Given the description of an element on the screen output the (x, y) to click on. 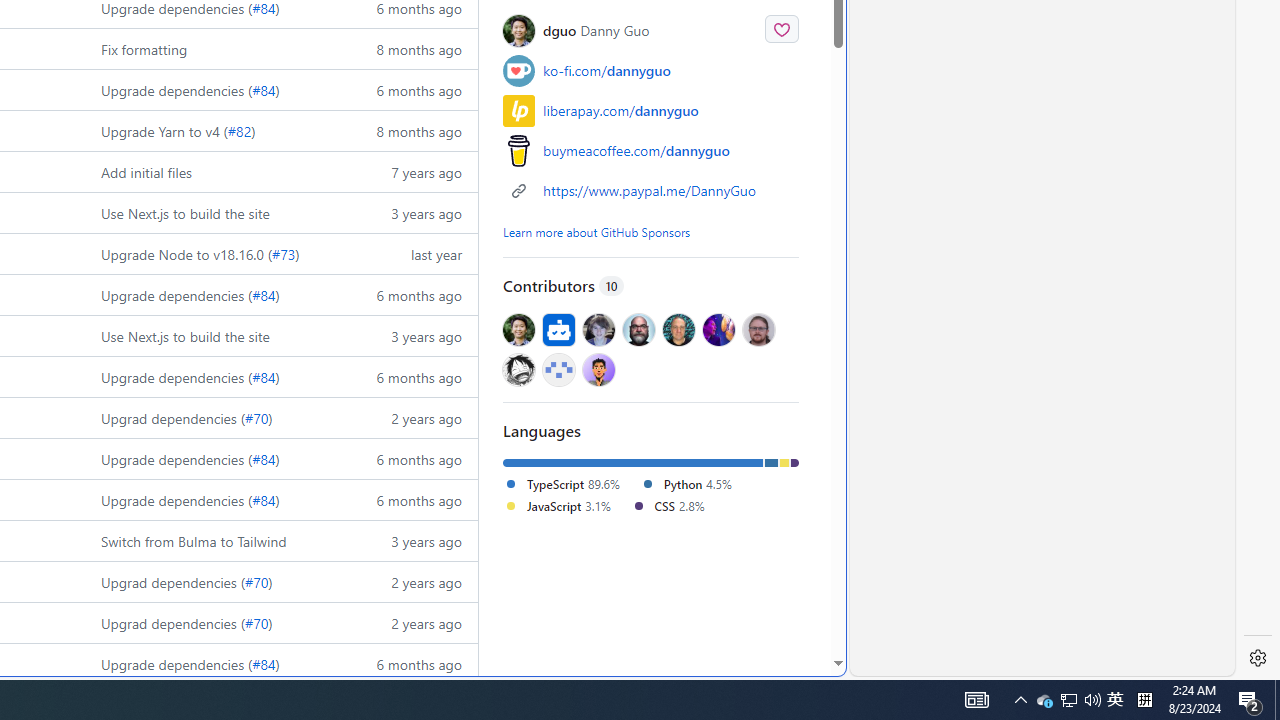
@dguo (519, 329)
Fix formatting (212, 48)
@davidak (598, 329)
#70 (256, 622)
Upgrad dependencies ( (172, 622)
Upgrade Node to v18.16.0 (#73) (212, 253)
#73 (283, 254)
Upgrade Yarn to v4 ( (164, 130)
@paul-hammant (679, 329)
ko-fi.com/dannyguo (650, 70)
@Haroenv (718, 329)
Contributors 10 (650, 285)
Upgrade Node to v18.16.0 ( (186, 254)
buy_me_a_coffee (519, 150)
@web3Gurung (598, 368)
